Given the description of an element on the screen output the (x, y) to click on. 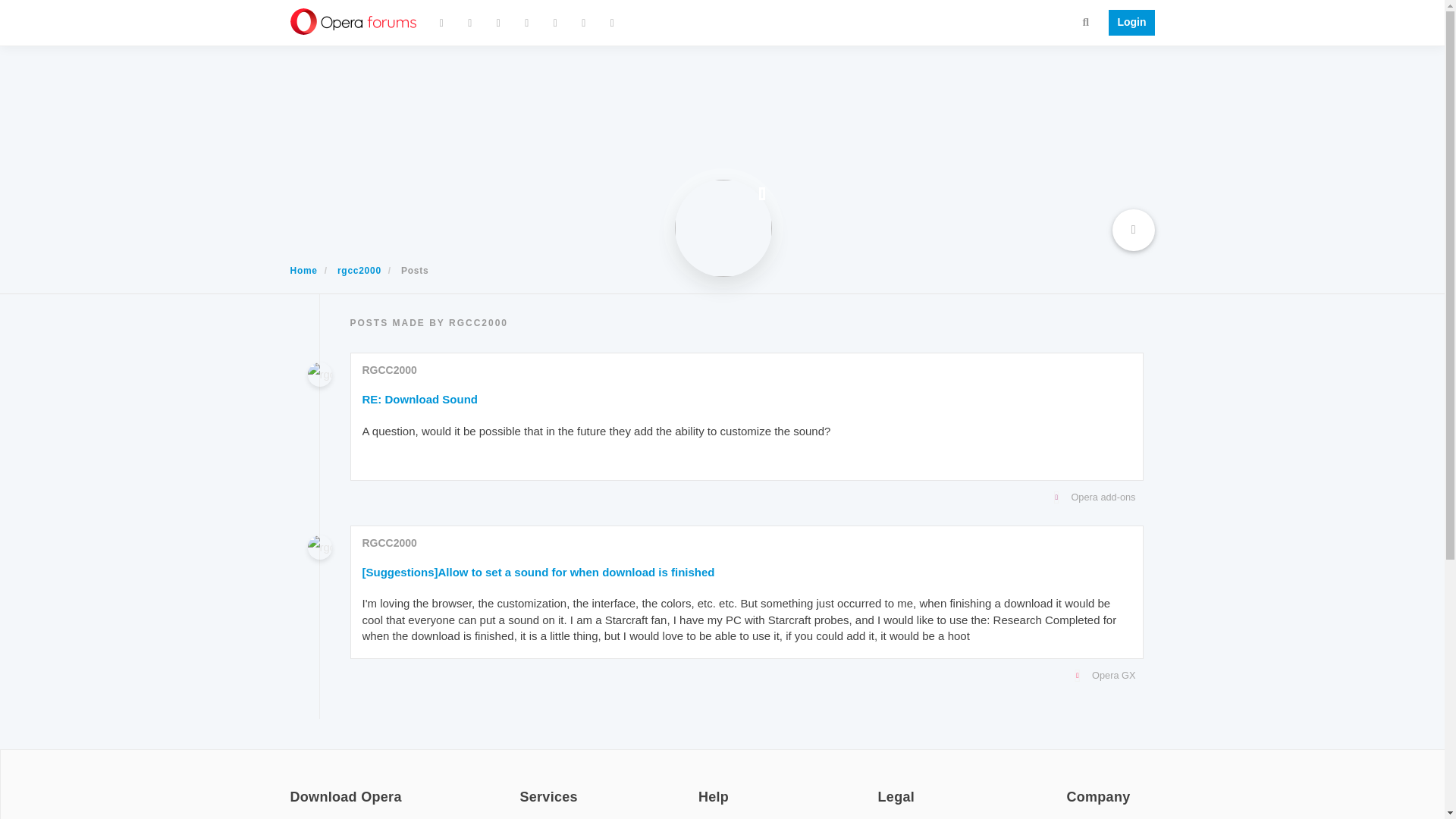
on (881, 786)
RE: Download Sound (419, 399)
Search (1085, 21)
Users (526, 22)
Rules (583, 22)
on (293, 786)
Offline (761, 193)
RGCC2000 (389, 542)
Recent (469, 22)
RGCC2000 (389, 369)
rgcc2000 (359, 270)
on (1070, 786)
Groups (555, 22)
Tags (497, 22)
rgcc2000 (319, 374)
